Given the description of an element on the screen output the (x, y) to click on. 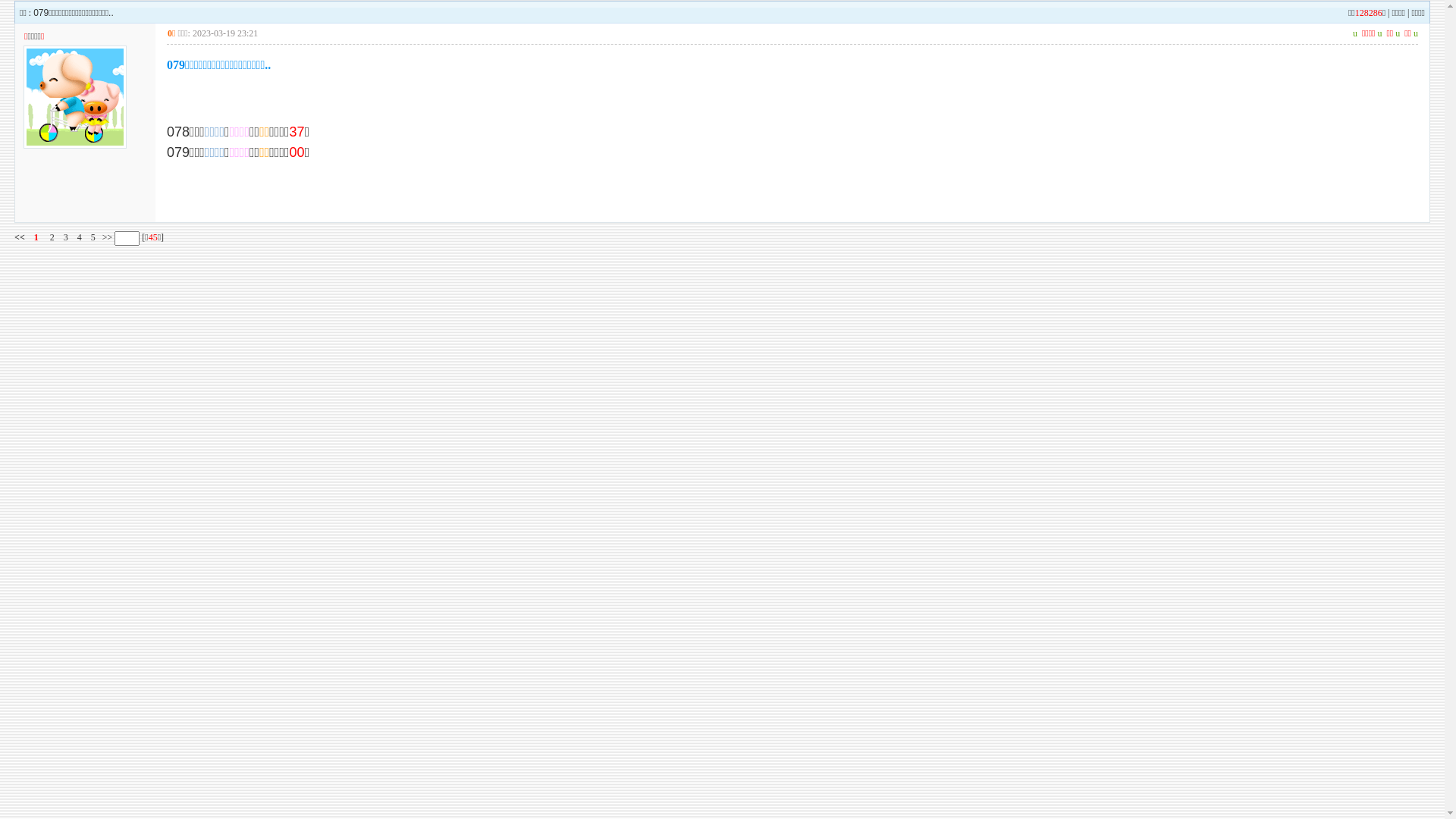
3 Element type: text (65, 237)
<< Element type: text (19, 237)
4 Element type: text (79, 237)
>> Element type: text (106, 237)
5 Element type: text (93, 237)
2 Element type: text (52, 237)
